Given the description of an element on the screen output the (x, y) to click on. 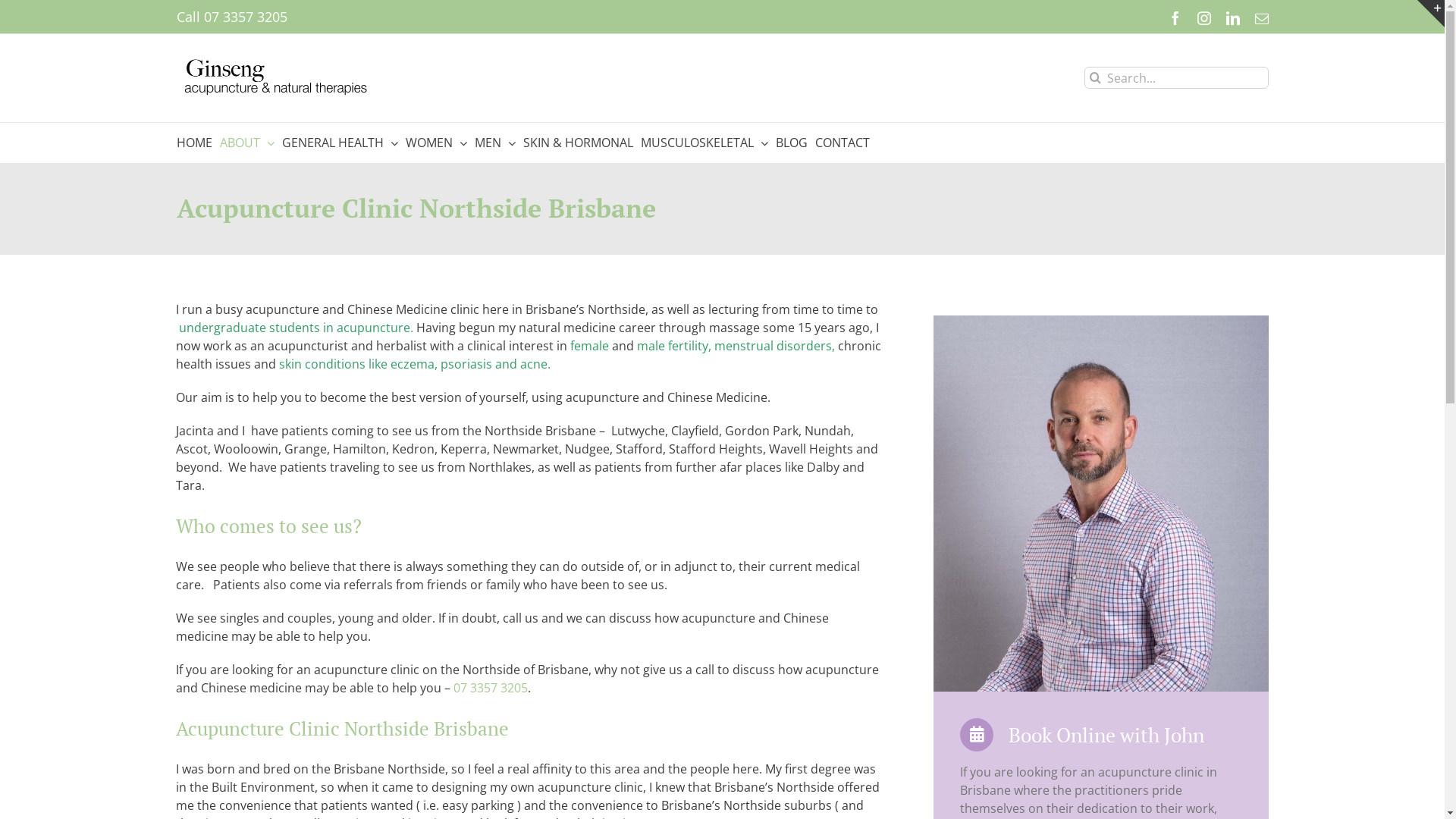
Facebook Element type: text (1174, 18)
LinkedIn Element type: text (1232, 18)
07 3357 3205 Element type: text (490, 687)
 undergraduate students Element type: text (247, 326)
WOMEN Element type: text (435, 142)
Book Online with John Element type: text (1082, 734)
SKIN & HORMONAL Element type: text (578, 142)
Email Element type: text (1260, 18)
MUSCULOSKELETAL Element type: text (703, 142)
Instagram Element type: text (1203, 18)
07 3357 3205 Element type: text (244, 16)
female Element type: text (589, 344)
ABOUT Element type: text (246, 142)
menstrual disorders Element type: text (772, 344)
Acupuncture & Chinese Medicine Element type: hover (1100, 503)
skin conditions like eczema, psoriasis and acne. Element type: text (414, 362)
MEN Element type: text (494, 142)
CONTACT Element type: text (841, 142)
GENERAL HEALTH Element type: text (340, 142)
Toggle Sliding Bar Area Element type: text (1430, 13)
male fertility, Element type: text (674, 344)
BLOG Element type: text (790, 142)
HOME Element type: text (193, 142)
